Given the description of an element on the screen output the (x, y) to click on. 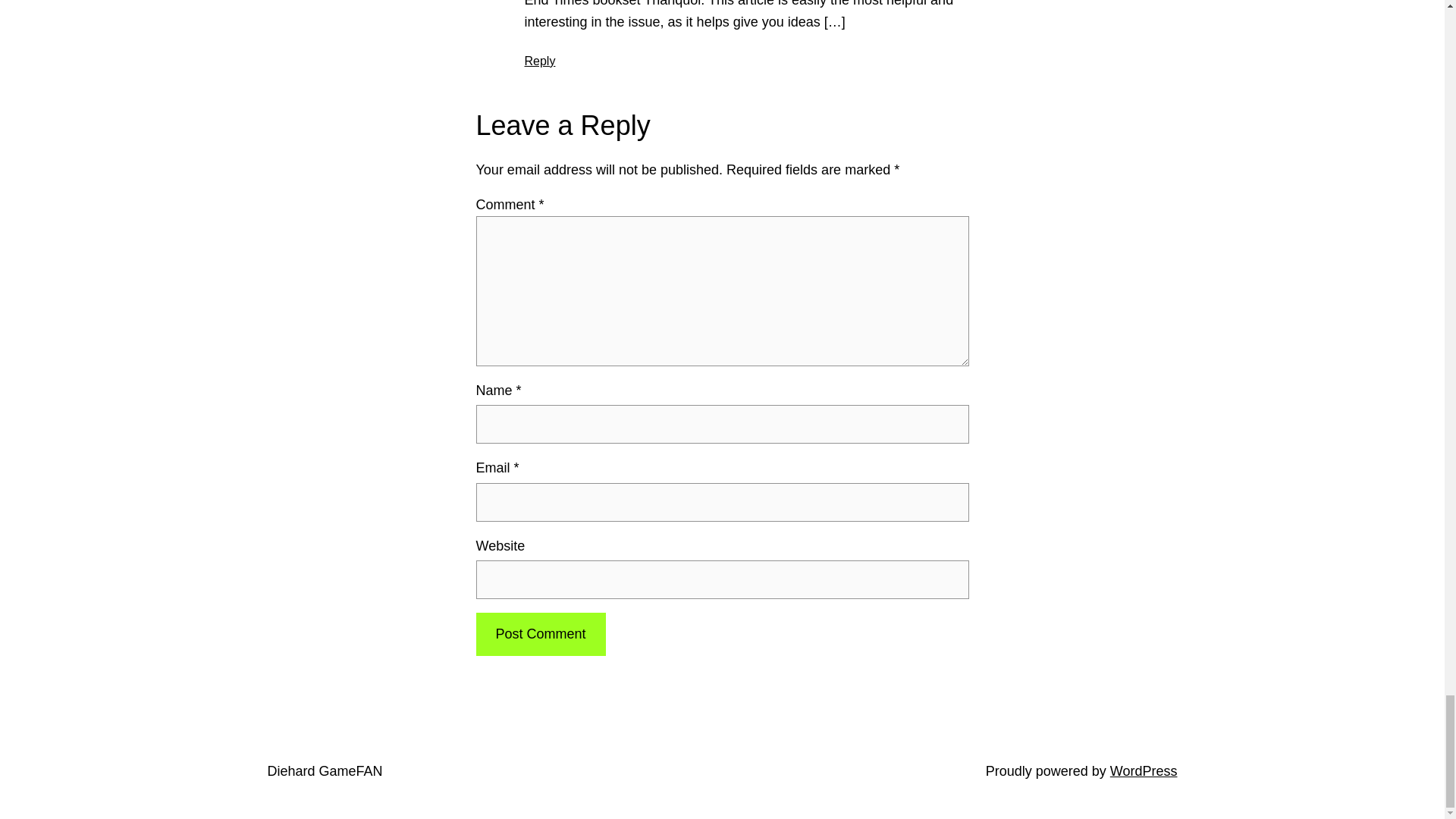
Reply (540, 60)
Diehard GameFAN (323, 770)
Post Comment (540, 634)
Post Comment (540, 634)
